Given the description of an element on the screen output the (x, y) to click on. 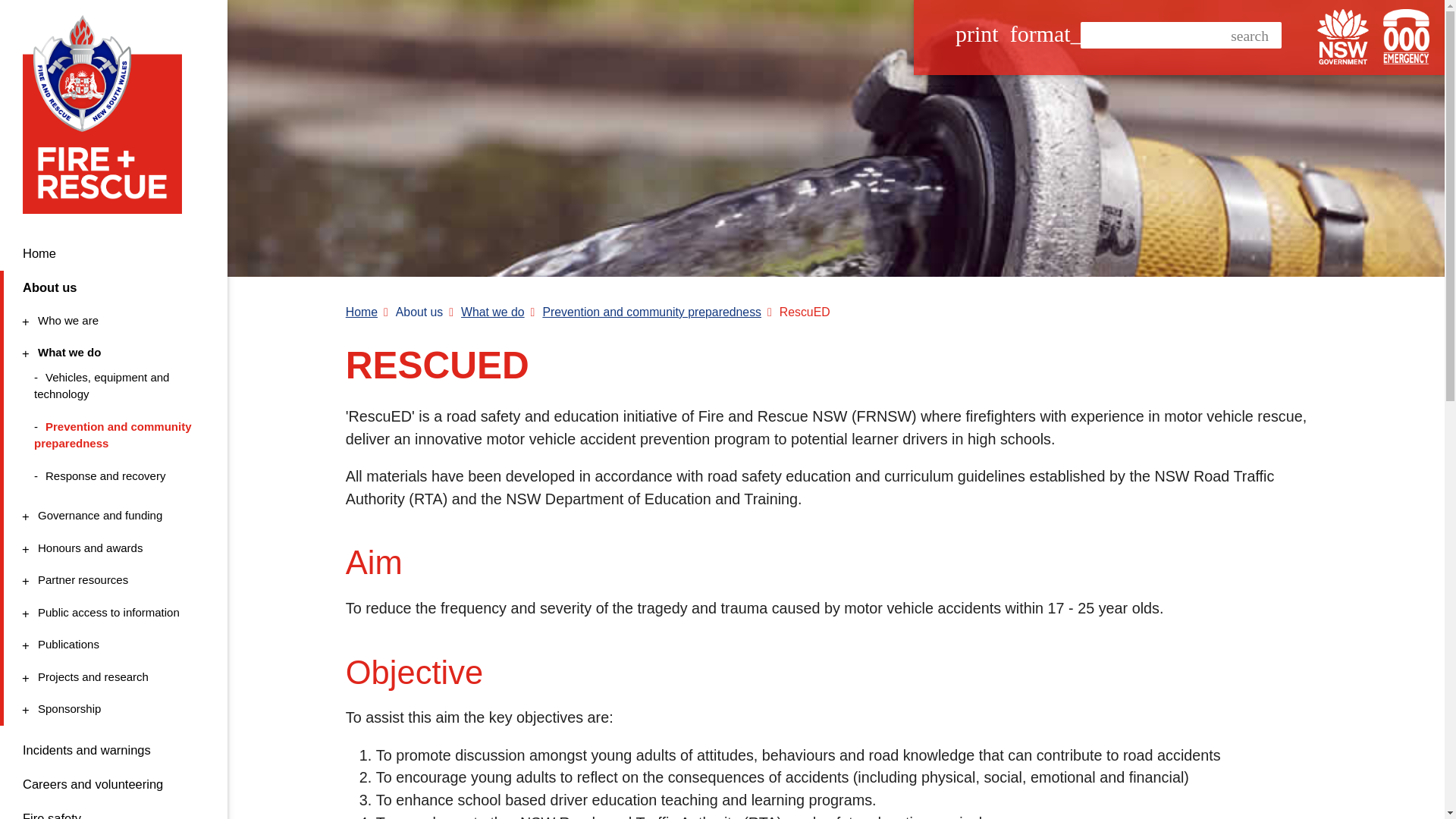
Who we are (111, 321)
Response and recovery (115, 476)
Governance and funding (111, 515)
Sponsorship (111, 709)
Fire and Rescue NSW (107, 114)
Vehicles, equipment and technology (115, 386)
Projects and research (111, 677)
What we do (111, 352)
Partner resources (111, 579)
Honours and awards (111, 548)
Prevention and community preparedness (115, 435)
Home (113, 253)
Public access to information (111, 612)
NSW Government (1342, 36)
Publications (111, 644)
